Given the description of an element on the screen output the (x, y) to click on. 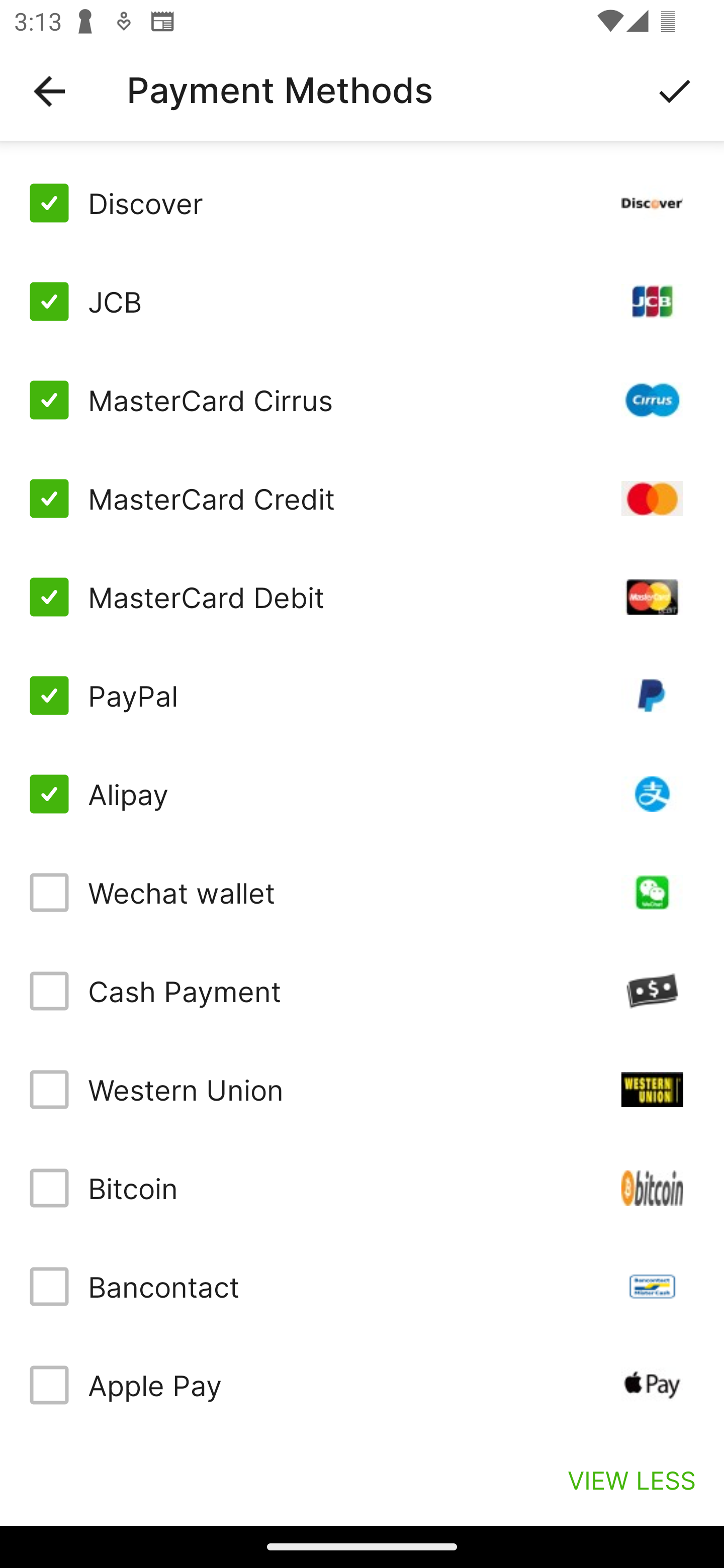
Discover (362, 202)
JCB (362, 301)
MasterCard Cirrus (362, 400)
MasterCard Credit (362, 498)
MasterCard Debit (362, 596)
PayPal (362, 695)
Alipay (362, 793)
Wechat wallet (362, 892)
Cash Payment (362, 990)
Western Union (362, 1088)
Bitcoin (362, 1187)
Bancontact (362, 1286)
Apple Pay (362, 1384)
VIEW LESS (631, 1479)
